Given the description of an element on the screen output the (x, y) to click on. 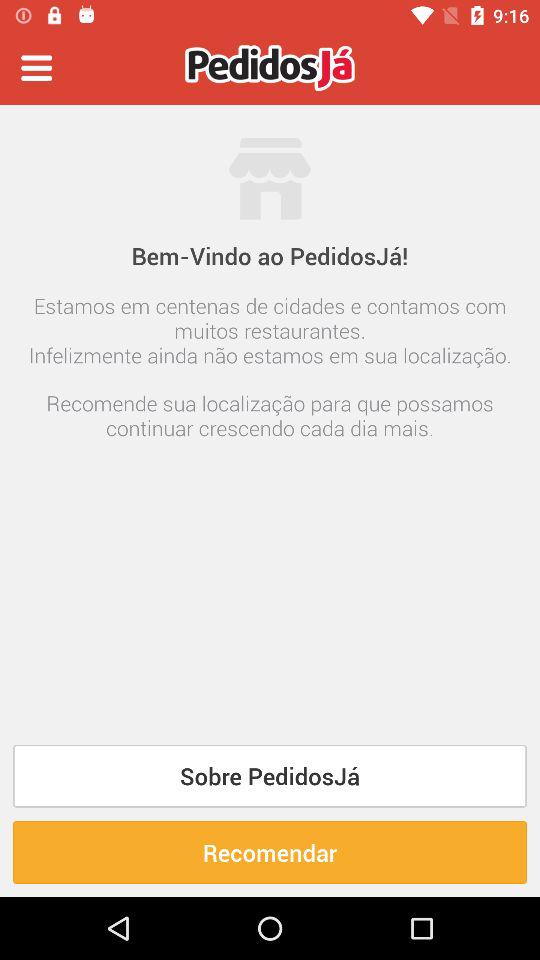
press the recomendar (269, 851)
